Given the description of an element on the screen output the (x, y) to click on. 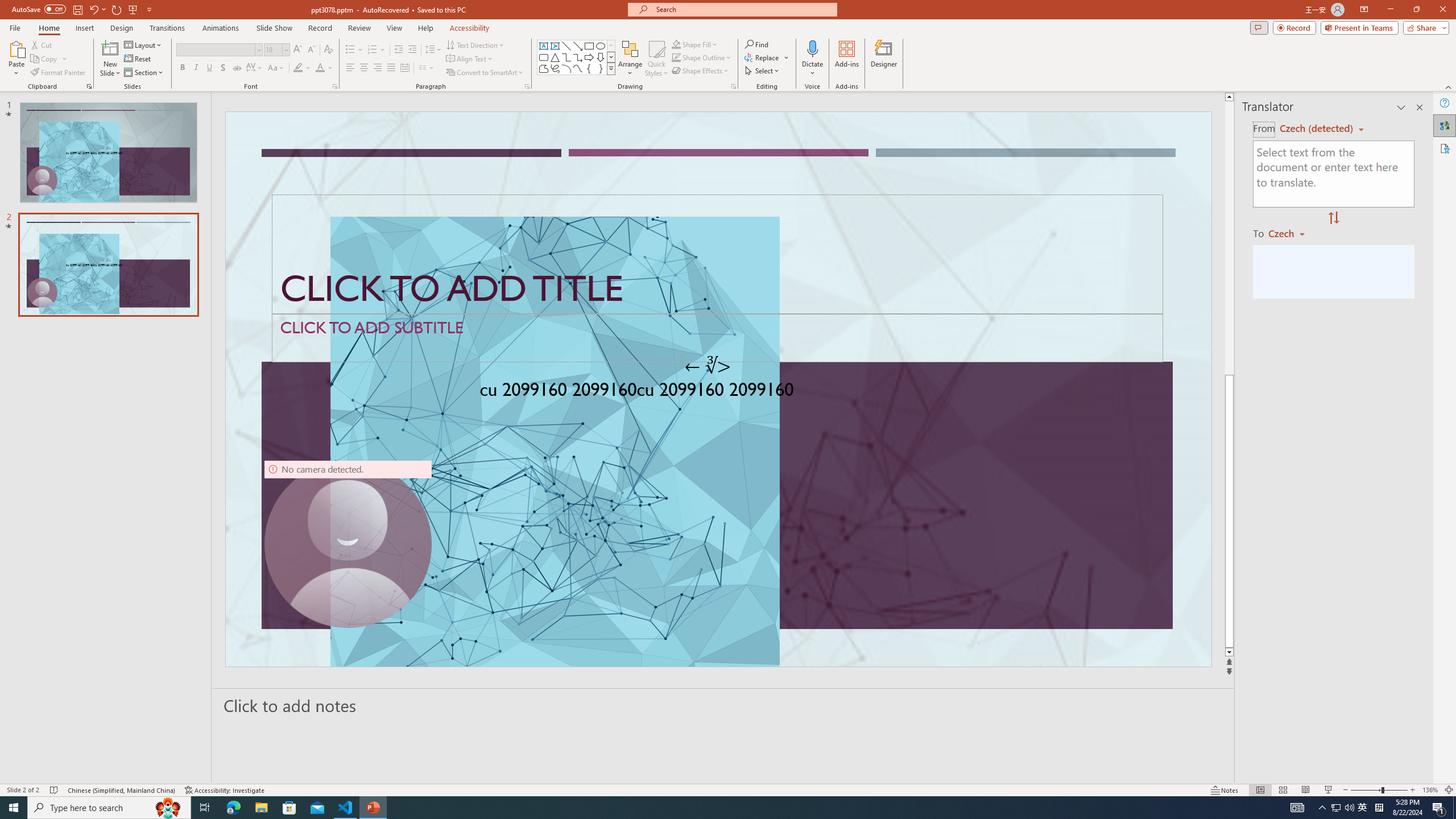
Shape Outline Green, Accent 1 (675, 56)
Czech (detected) (1317, 128)
